Given the description of an element on the screen output the (x, y) to click on. 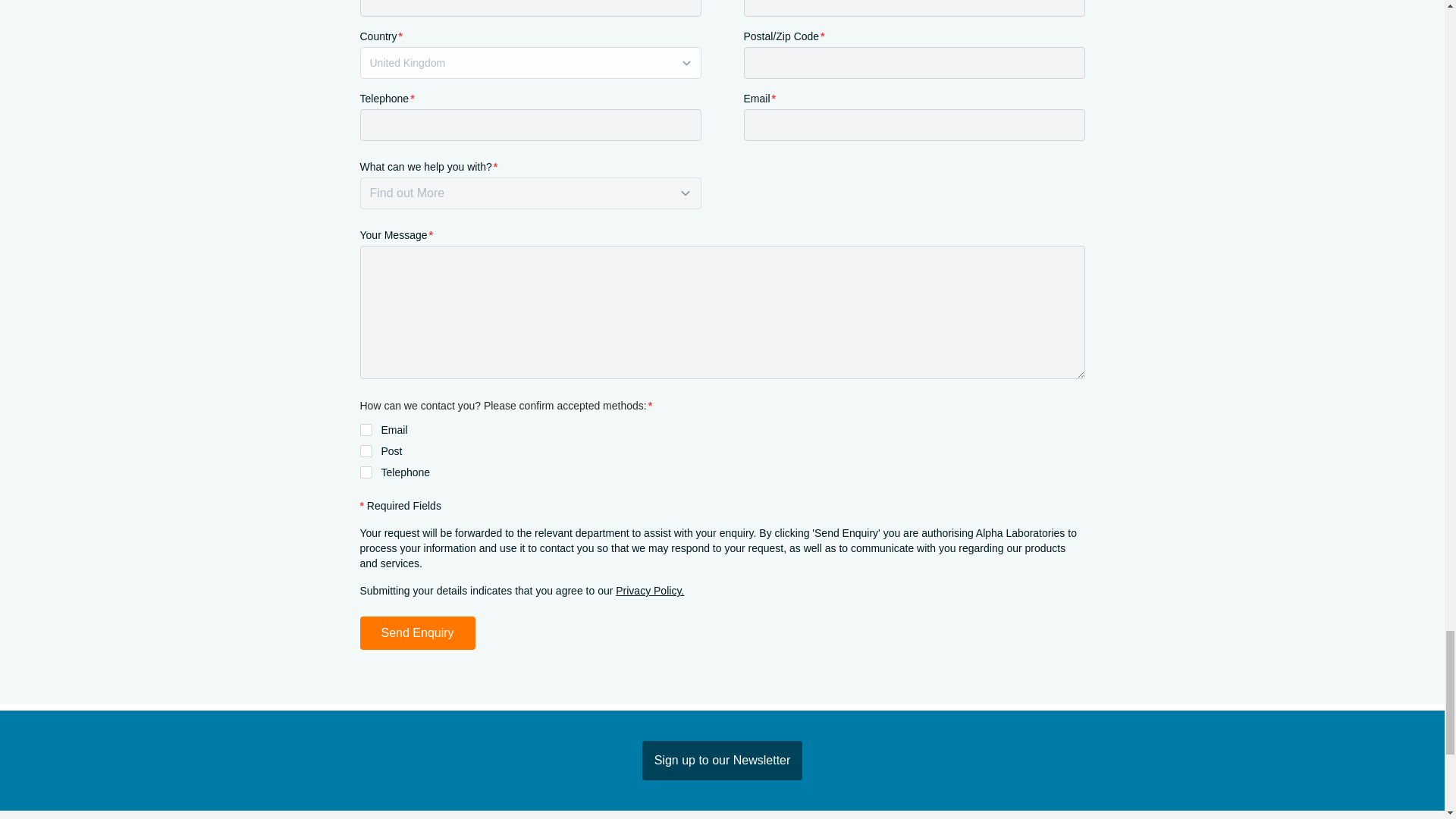
Yes (365, 451)
Yes (365, 429)
Yes (365, 472)
Country (529, 62)
